Given the description of an element on the screen output the (x, y) to click on. 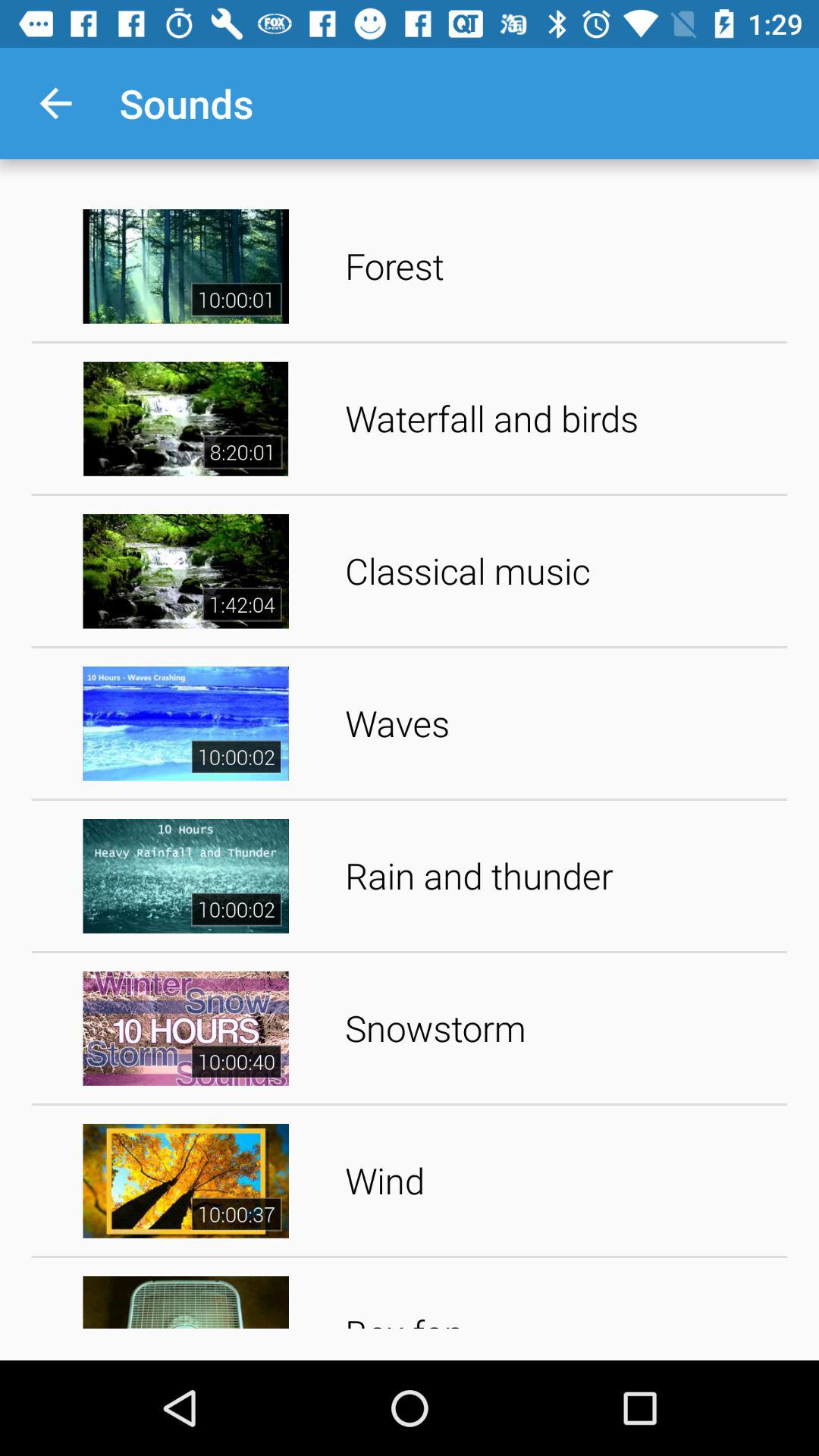
press app above wind item (560, 1028)
